Given the description of an element on the screen output the (x, y) to click on. 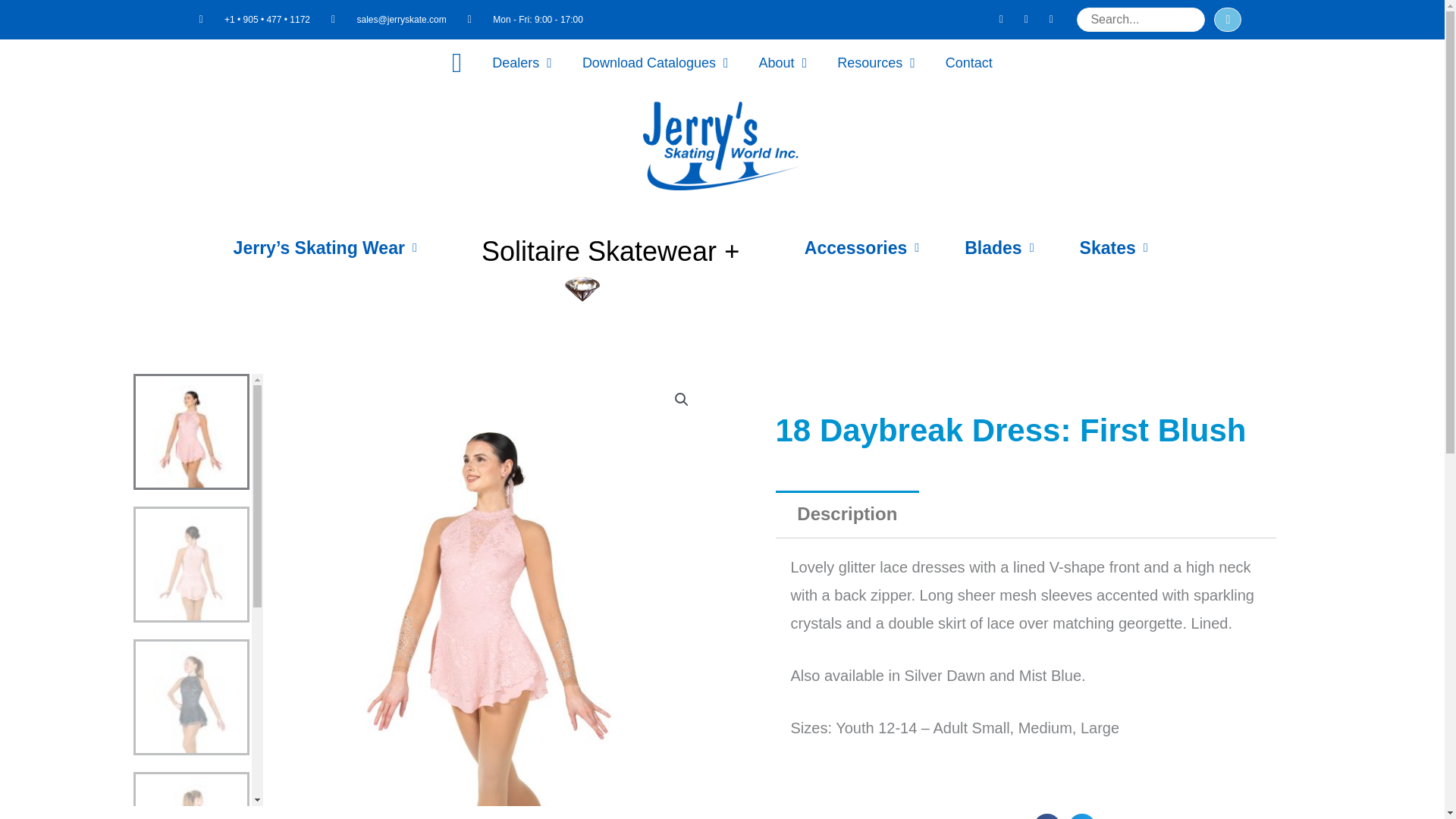
Search (1227, 19)
Instagram (1025, 19)
Youtube (1051, 19)
Facebook-f (1000, 19)
Search (1141, 19)
About (783, 62)
Download Catalogues (655, 62)
Contact (968, 62)
Dealers (522, 62)
Resources (876, 62)
